Given the description of an element on the screen output the (x, y) to click on. 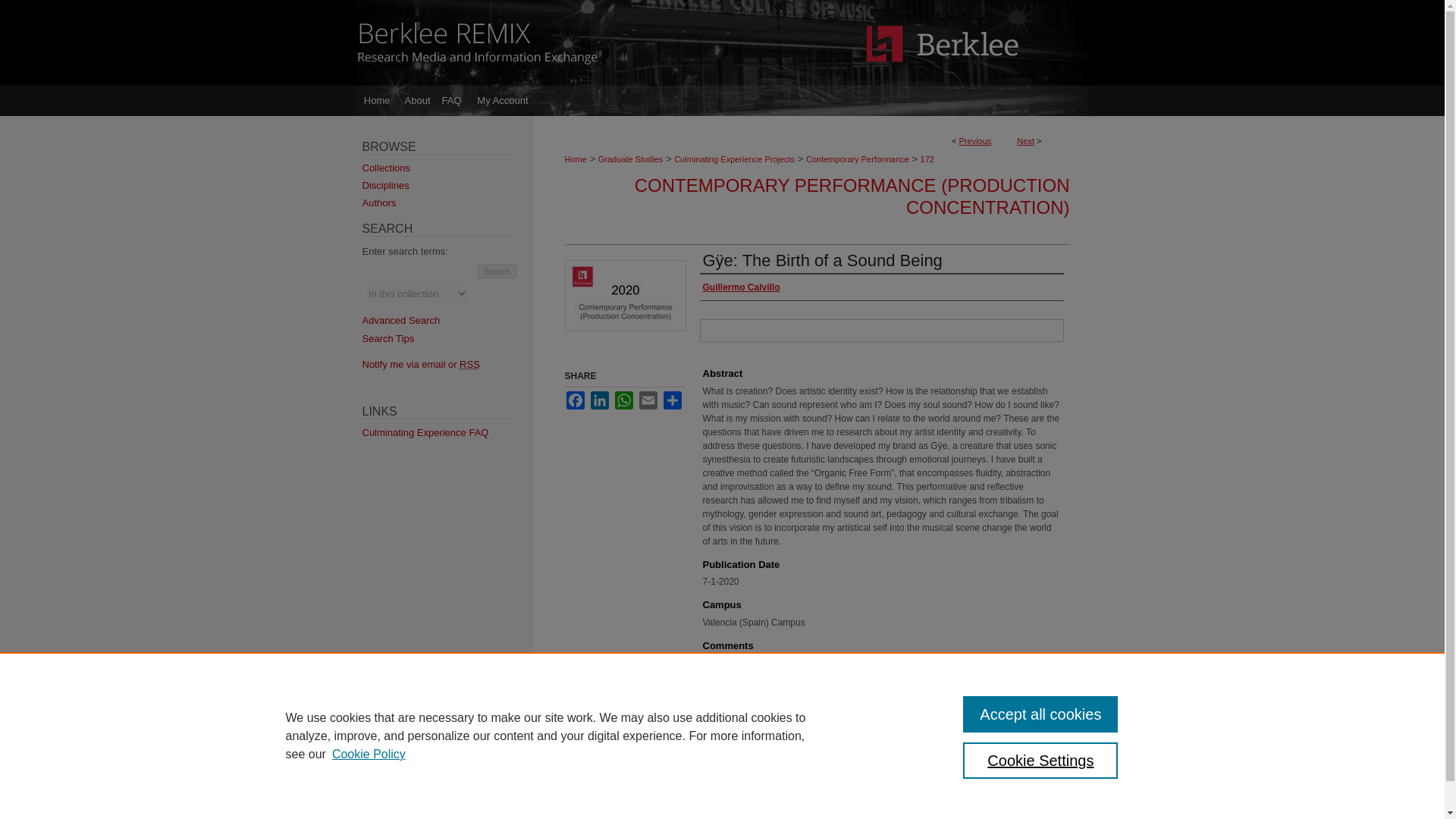
LinkedIn (599, 400)
Search (496, 271)
Search (496, 271)
Browse by Collections (447, 167)
Collections (447, 167)
Contemporary Performance (857, 158)
Culminating Experience FAQ (447, 432)
About (611, 808)
Browse by Author (447, 202)
Advanced Search (401, 319)
Culminating Experience Projects (734, 158)
Previous (975, 140)
Guillermo Calvillo (739, 287)
WhatsApp (622, 400)
About (417, 100)
